Given the description of an element on the screen output the (x, y) to click on. 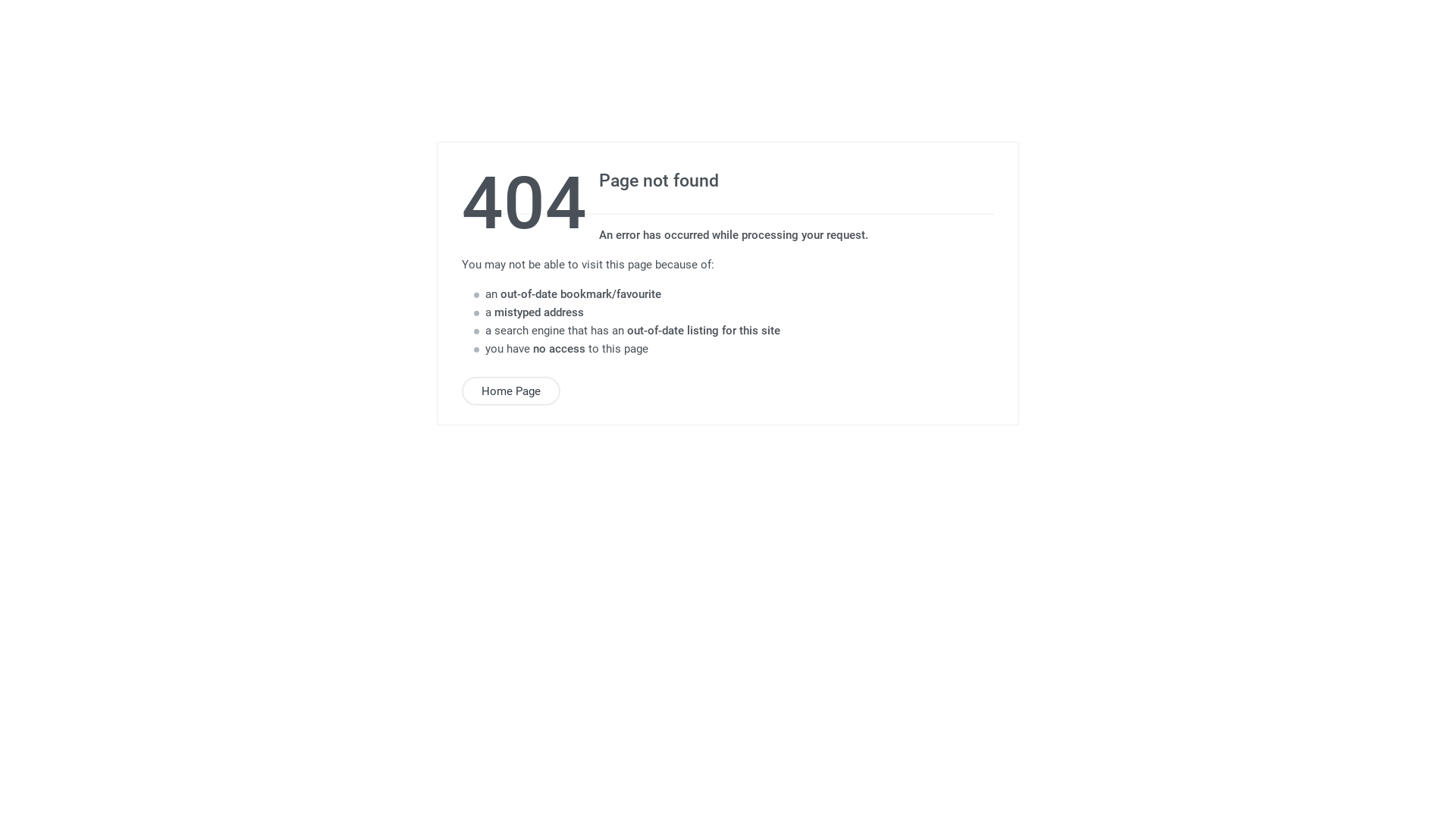
Home Page Element type: text (510, 390)
